Given the description of an element on the screen output the (x, y) to click on. 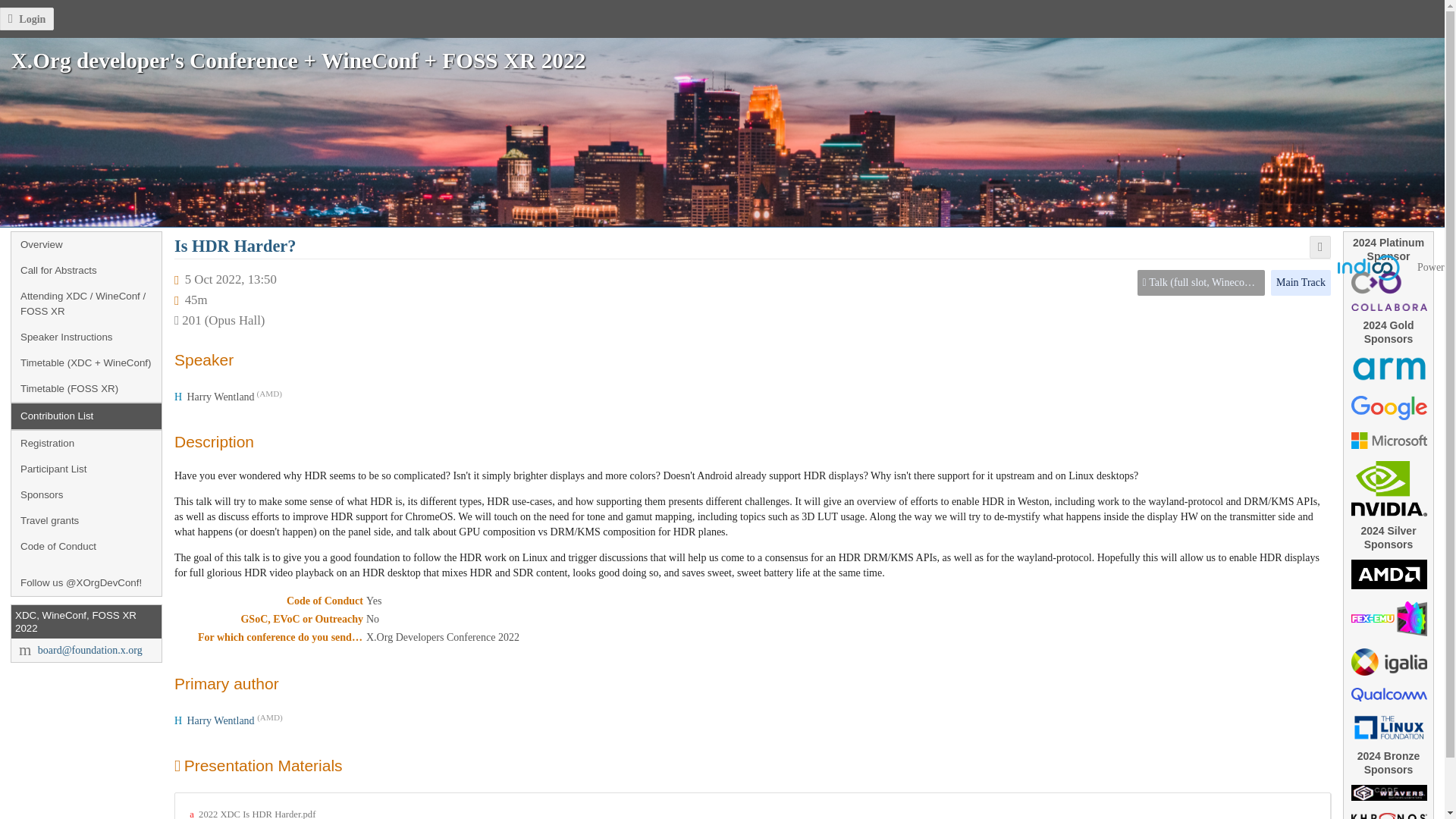
Sponsors (86, 494)
Travel grants (86, 520)
2022 XDC Is HDR Harder.pdf (252, 814)
Overview (86, 244)
Contribution List (86, 415)
Registration (86, 443)
Code of Conduct (86, 546)
Duration (196, 299)
Login (26, 19)
Speaker Instructions (86, 337)
Call for Abstracts (86, 270)
Participant List (86, 469)
